Given the description of an element on the screen output the (x, y) to click on. 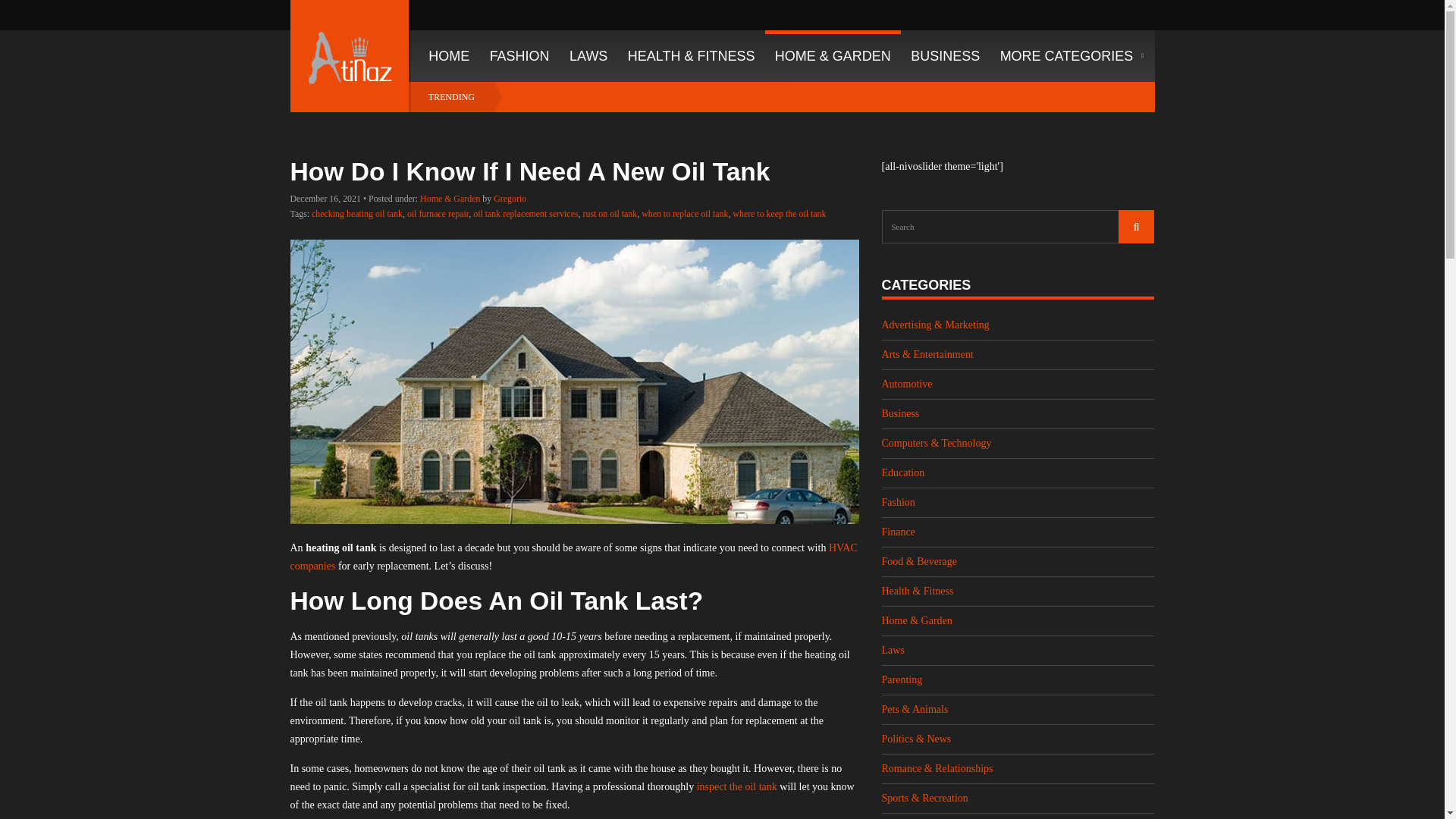
MORE CATEGORIES (1070, 55)
FASHION (519, 55)
HOME (444, 55)
LAWS (588, 55)
BUSINESS (945, 55)
